Given the description of an element on the screen output the (x, y) to click on. 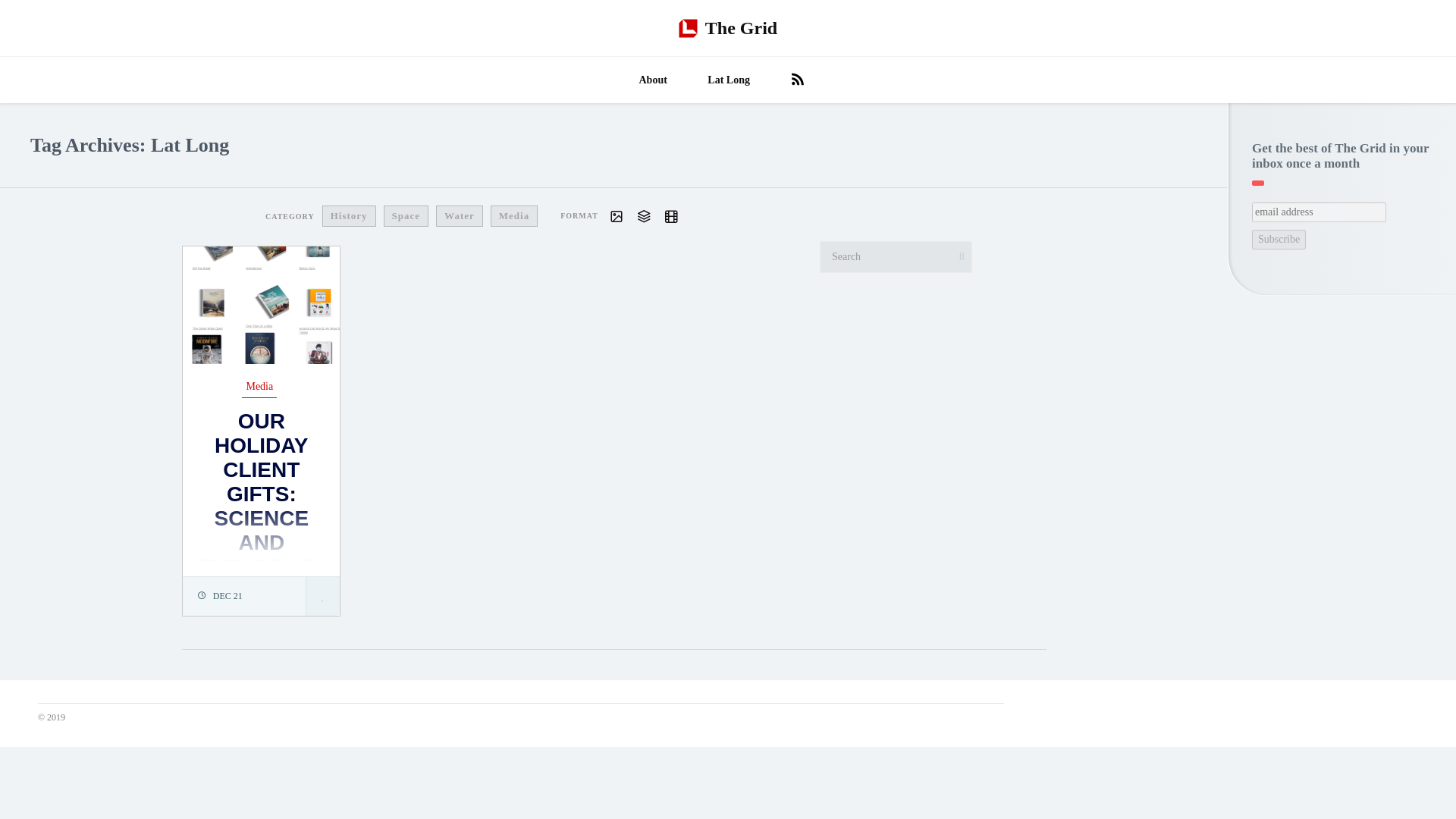
Space (429, 216)
Search (20, 9)
The Grid (727, 27)
Media (526, 216)
Search for: (895, 256)
Subscribe (1279, 239)
Lat Long (728, 80)
About (652, 80)
Water (478, 216)
Subscribe (1279, 239)
Media (258, 389)
History (386, 216)
